Given the description of an element on the screen output the (x, y) to click on. 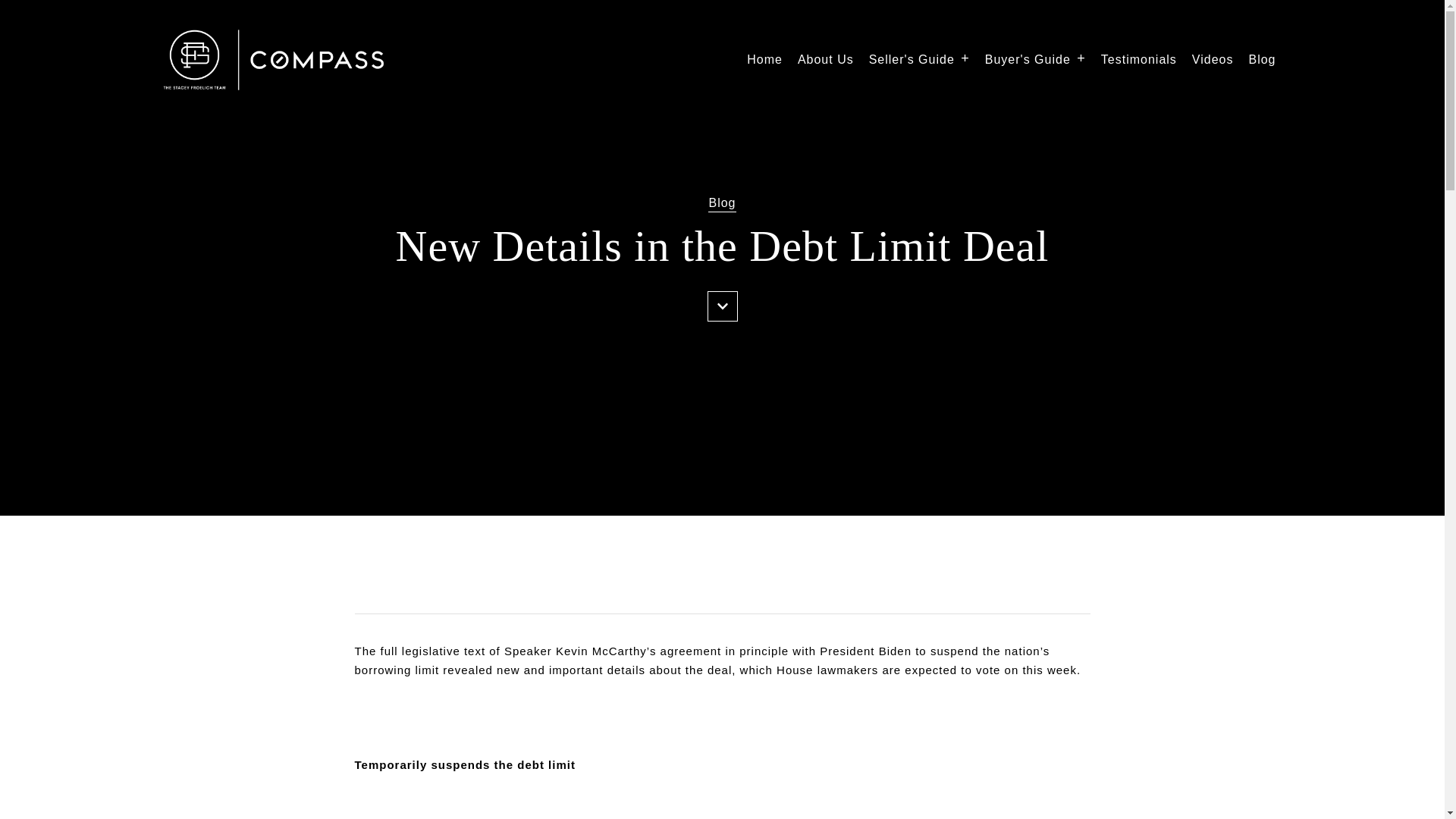
Blog (1261, 59)
Videos (1212, 59)
About Us (825, 59)
Testimonials (1138, 59)
Buyer'S Guide (1035, 59)
Home (764, 59)
Seller'S Guide (919, 59)
